Given the description of an element on the screen output the (x, y) to click on. 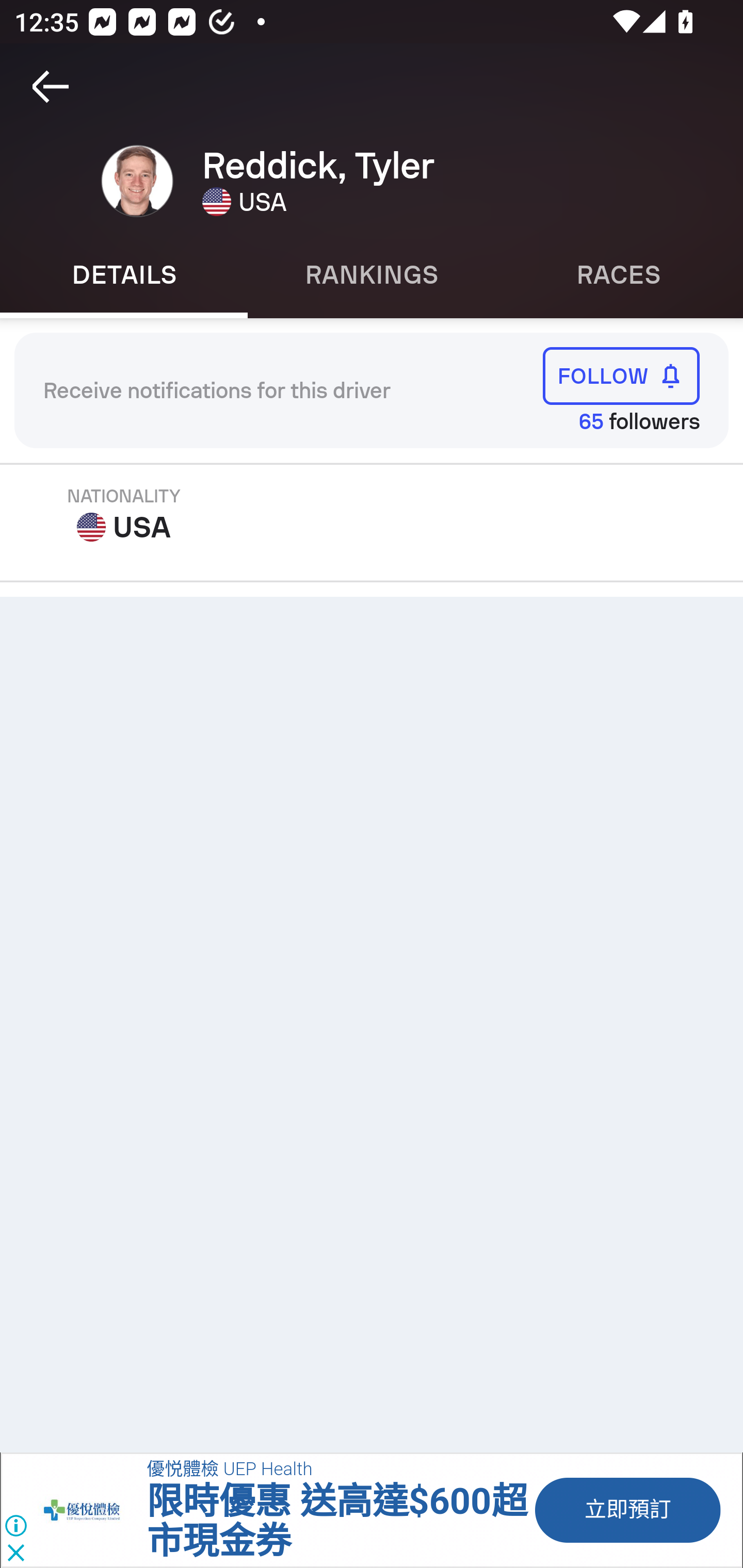
Navigate up (50, 86)
Rankings RANKINGS (371, 275)
Races RACES (619, 275)
FOLLOW (621, 375)
NATIONALITY USA (123, 515)
優悦體檢 UEP Health (228, 1469)
www.healthcheck-hk (92, 1509)
立即預訂 (626, 1509)
限時優惠 送高達$600超 市現金券 限時優惠 送高達$600超 市現金券 (335, 1521)
